Given the description of an element on the screen output the (x, y) to click on. 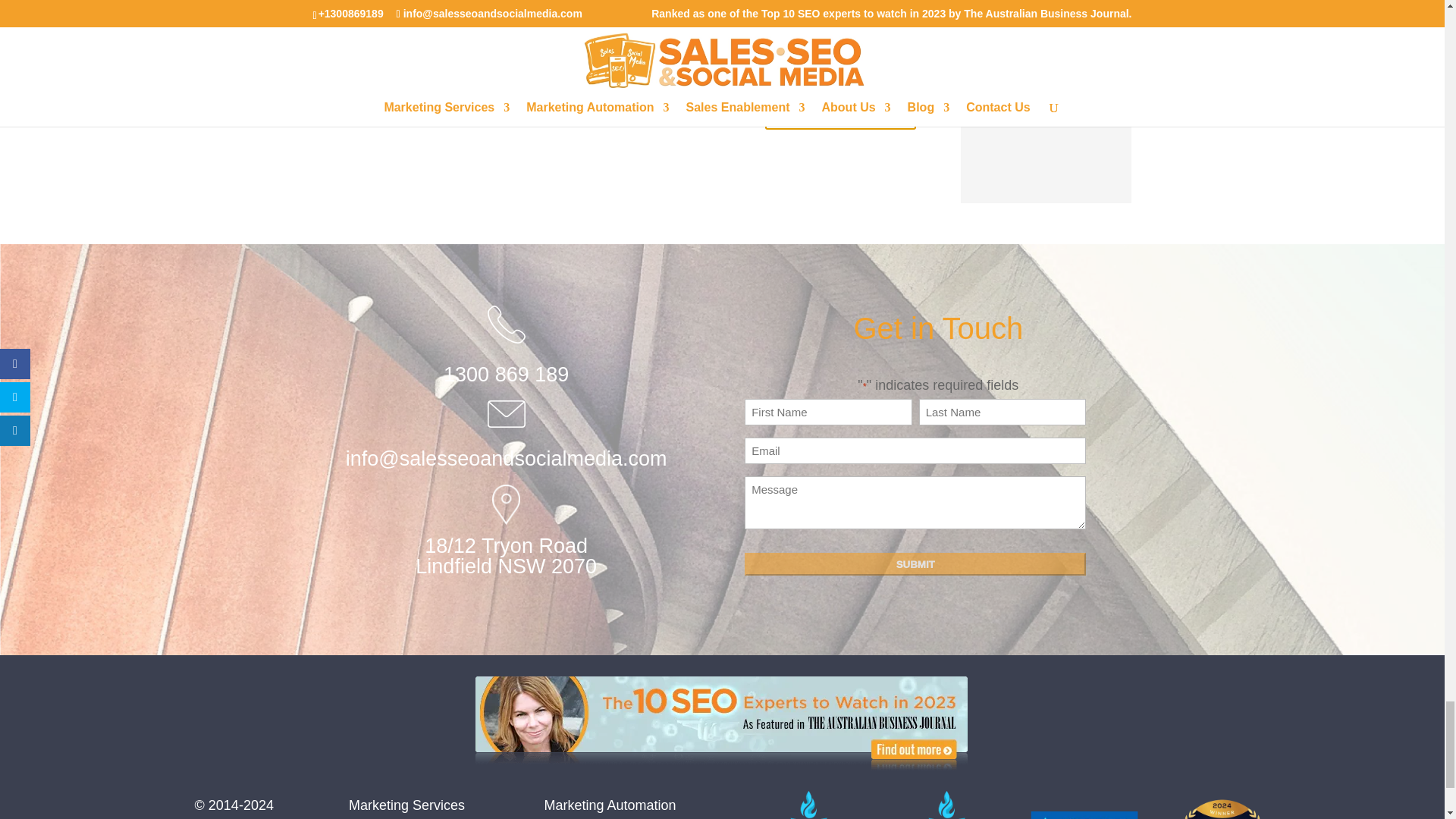
SUBMIT (915, 563)
